Given the description of an element on the screen output the (x, y) to click on. 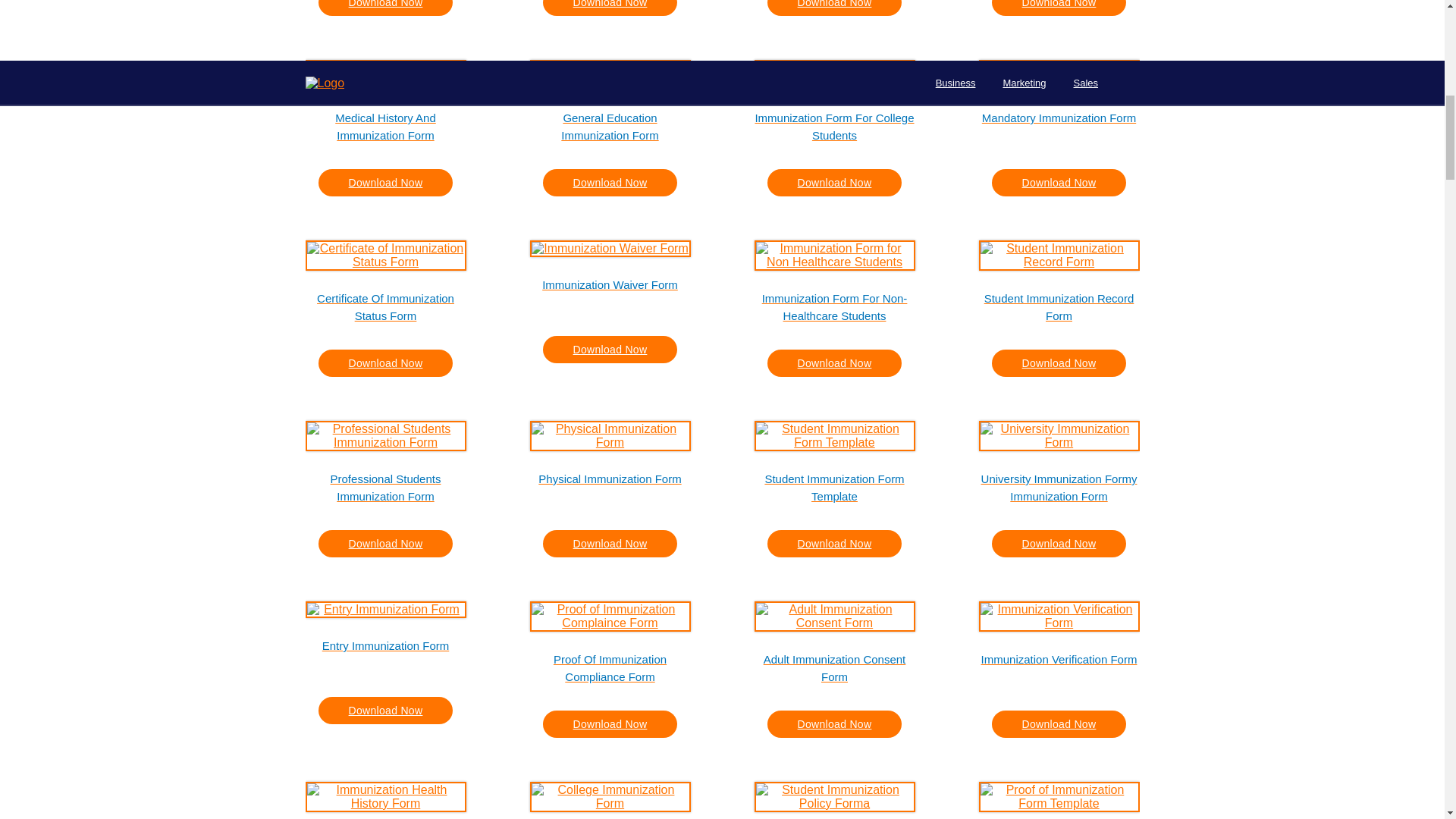
Download Now (834, 7)
Immunization Form For College Students (834, 125)
Mandatory Immunization Form (1058, 125)
Download Now (1058, 7)
Download Now (610, 7)
Download Now (385, 7)
Download Now (385, 182)
Download Now (610, 182)
General Education Immunization Form (609, 125)
Medical History And Immunization Form (384, 125)
